Given the description of an element on the screen output the (x, y) to click on. 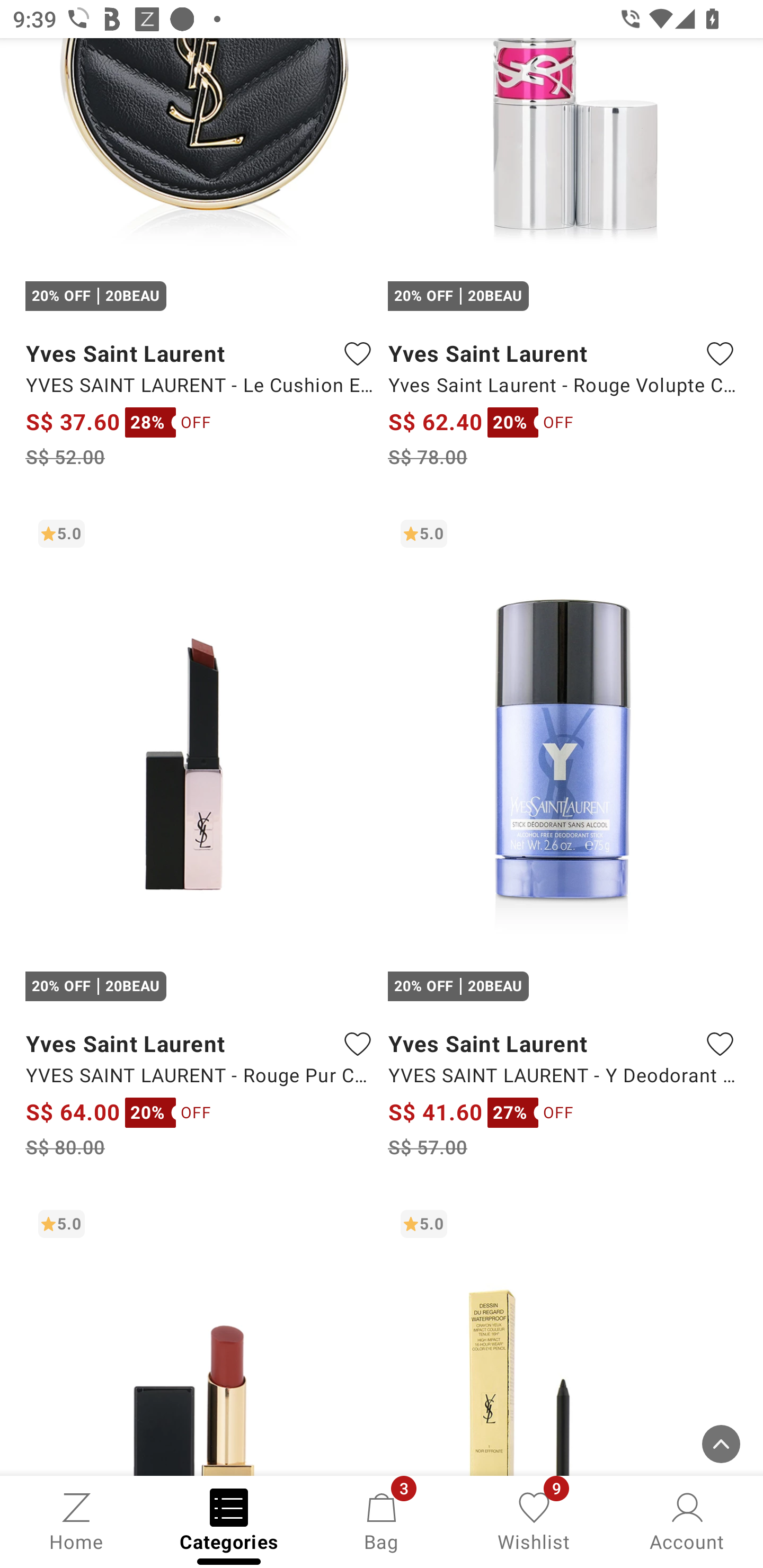
5.0 (200, 1336)
5.0 (562, 1336)
Home (76, 1519)
Bag, 3 new notifications Bag (381, 1519)
Wishlist, 9 new notifications Wishlist (533, 1519)
Account (686, 1519)
